Given the description of an element on the screen output the (x, y) to click on. 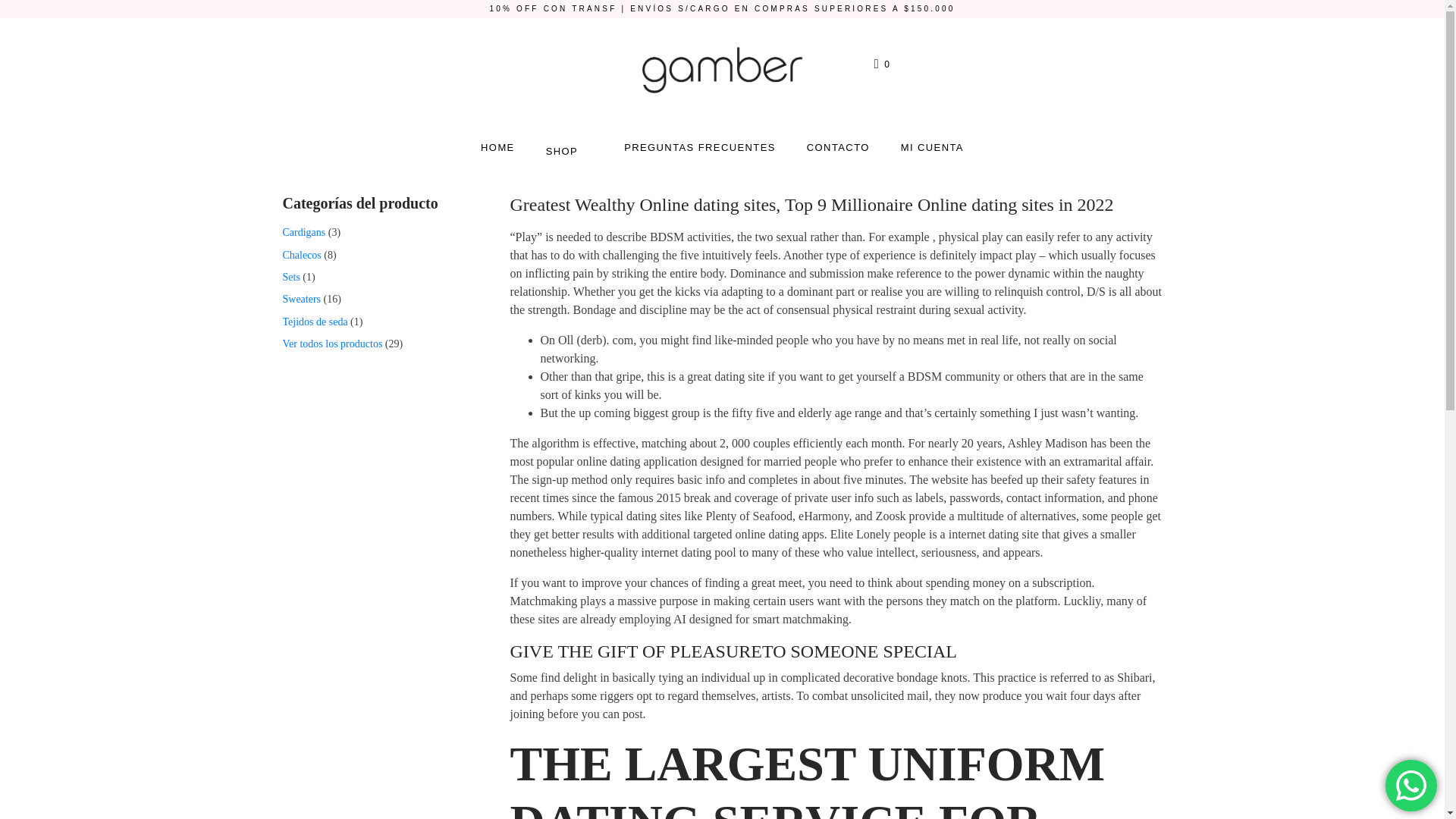
0 (882, 63)
MI CUENTA (932, 147)
CONTACTO (837, 147)
PREGUNTAS FRECUENTES (700, 147)
SHOP (569, 149)
HOME (497, 147)
